Given the description of an element on the screen output the (x, y) to click on. 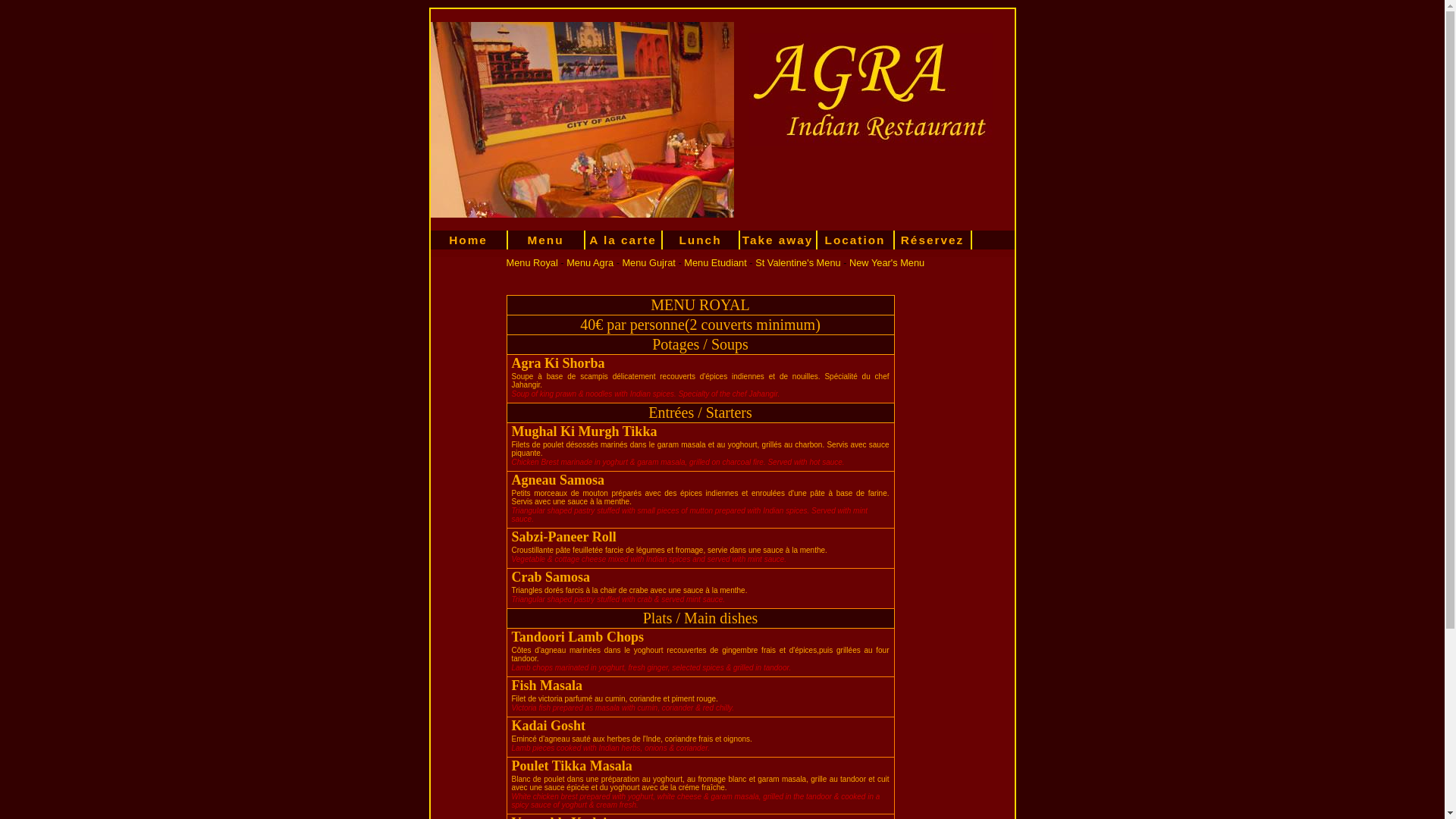
Location Element type: text (855, 239)
Take away Element type: text (778, 239)
Home Element type: text (469, 239)
A la carte Element type: text (623, 239)
Menu Gujrat Element type: text (647, 262)
Lunch Element type: text (701, 239)
St Valentine's Menu Element type: text (797, 262)
Menu Element type: text (546, 239)
Menu Agra Element type: text (589, 262)
Agra Restaurant - Accueil Element type: hover (900, 90)
Menu Royal Element type: text (532, 262)
New Year's Menu Element type: text (886, 262)
Menu Etudiant Element type: text (715, 262)
